Given the description of an element on the screen output the (x, y) to click on. 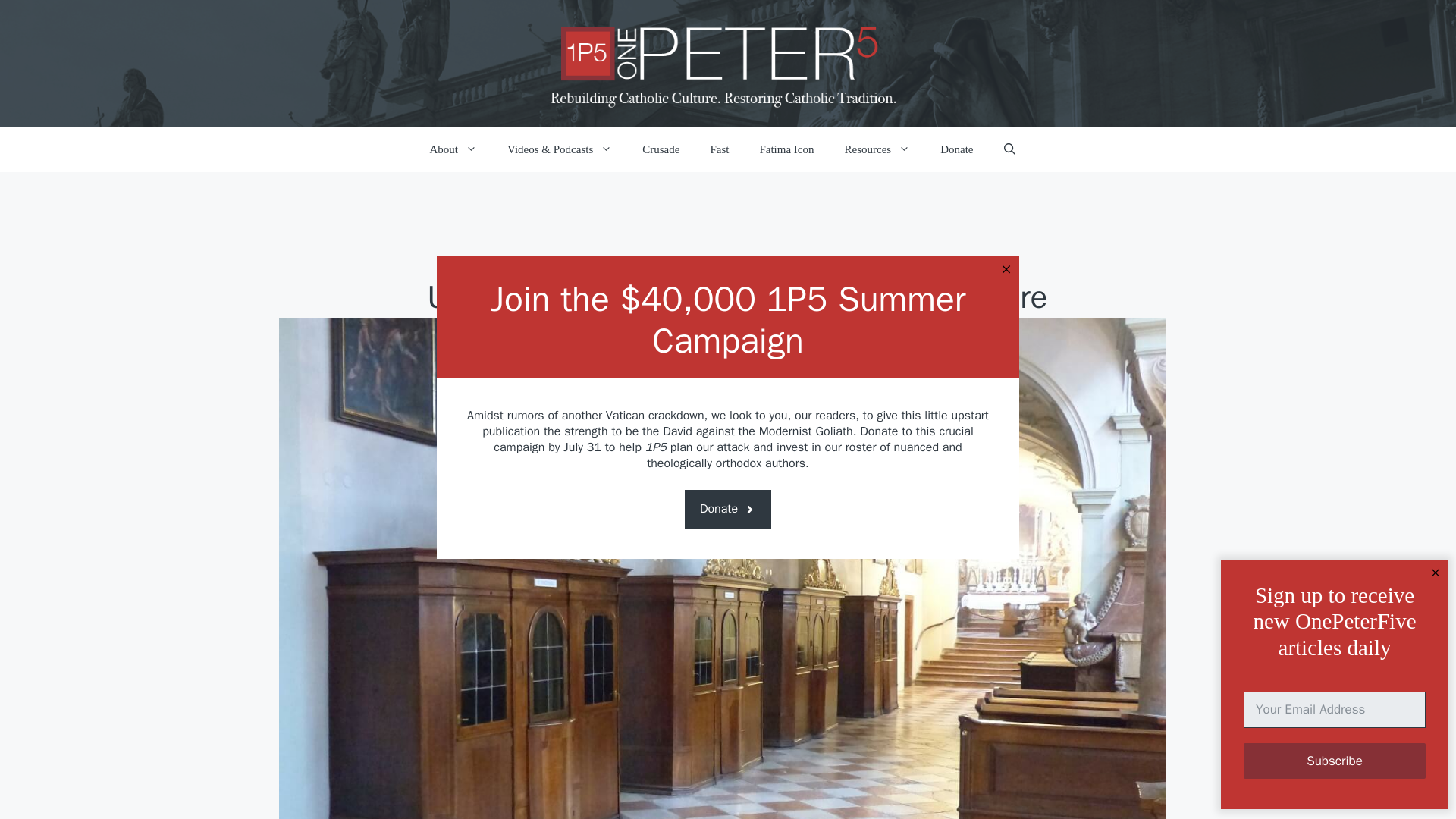
About (452, 148)
Posts by  T. S. Flanders (653, 342)
Posts by  T. S. Flanders (695, 342)
